Given the description of an element on the screen output the (x, y) to click on. 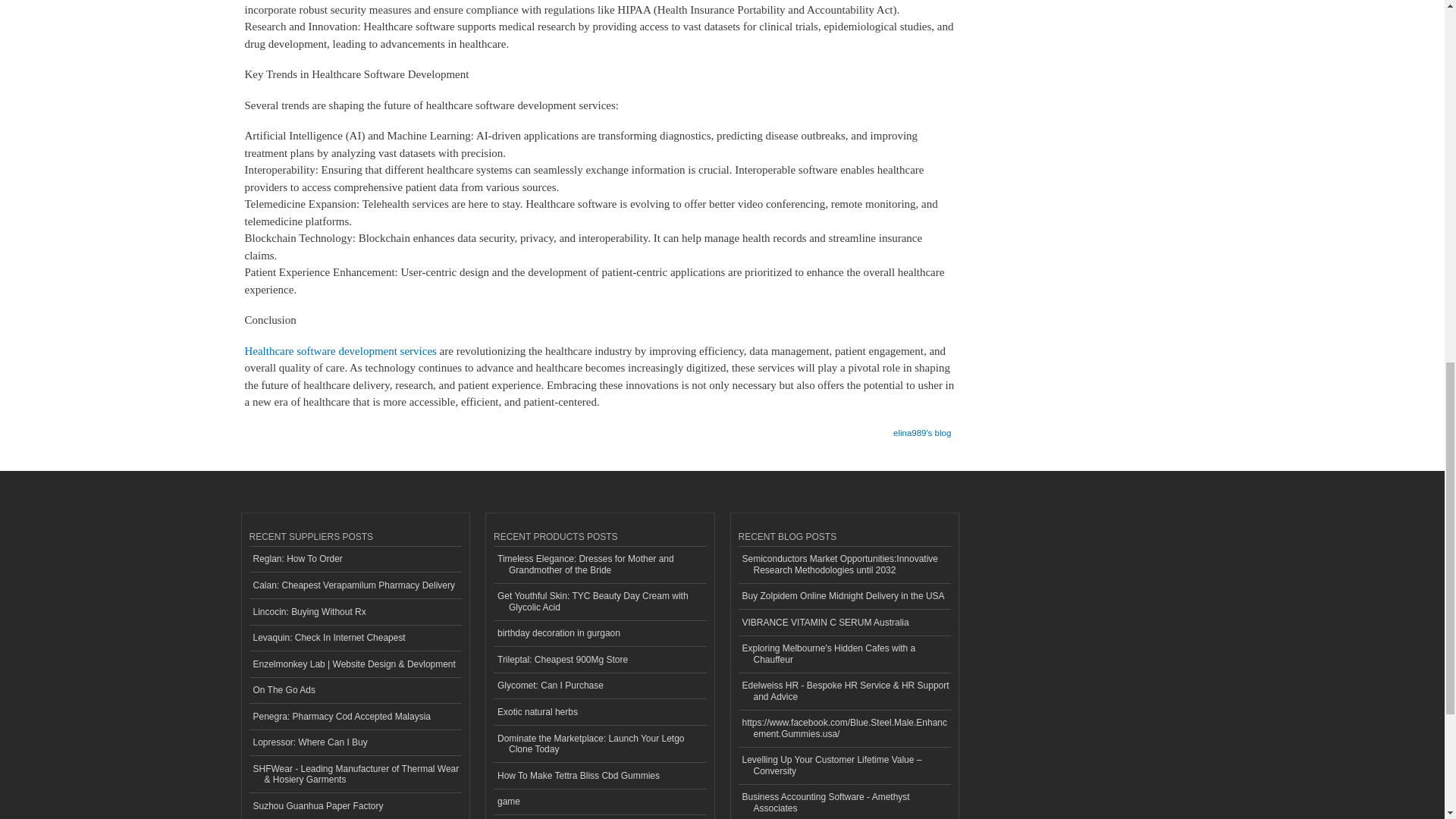
elina989's blog (921, 427)
Trileptal: Cheapest 900Mg Store (599, 660)
Reglan: How To Order (354, 560)
Levaquin: Check In Internet Cheapest (354, 637)
Suzhou Guanhua Paper Factory (354, 806)
Healthcare software development services (339, 350)
Dominate the Marketplace: Launch Your Letgo Clone Today (599, 743)
On The Go Ads (354, 691)
Get Youthful Skin: TYC Beauty Day Cream with Glycolic Acid (599, 601)
Glycomet: Can I Purchase (599, 686)
Lopressor: Where Can I Buy (354, 743)
Lincocin: Buying Without Rx (354, 611)
Exotic natural herbs (599, 712)
Read elina989's latest blog entries. (921, 427)
